Given the description of an element on the screen output the (x, y) to click on. 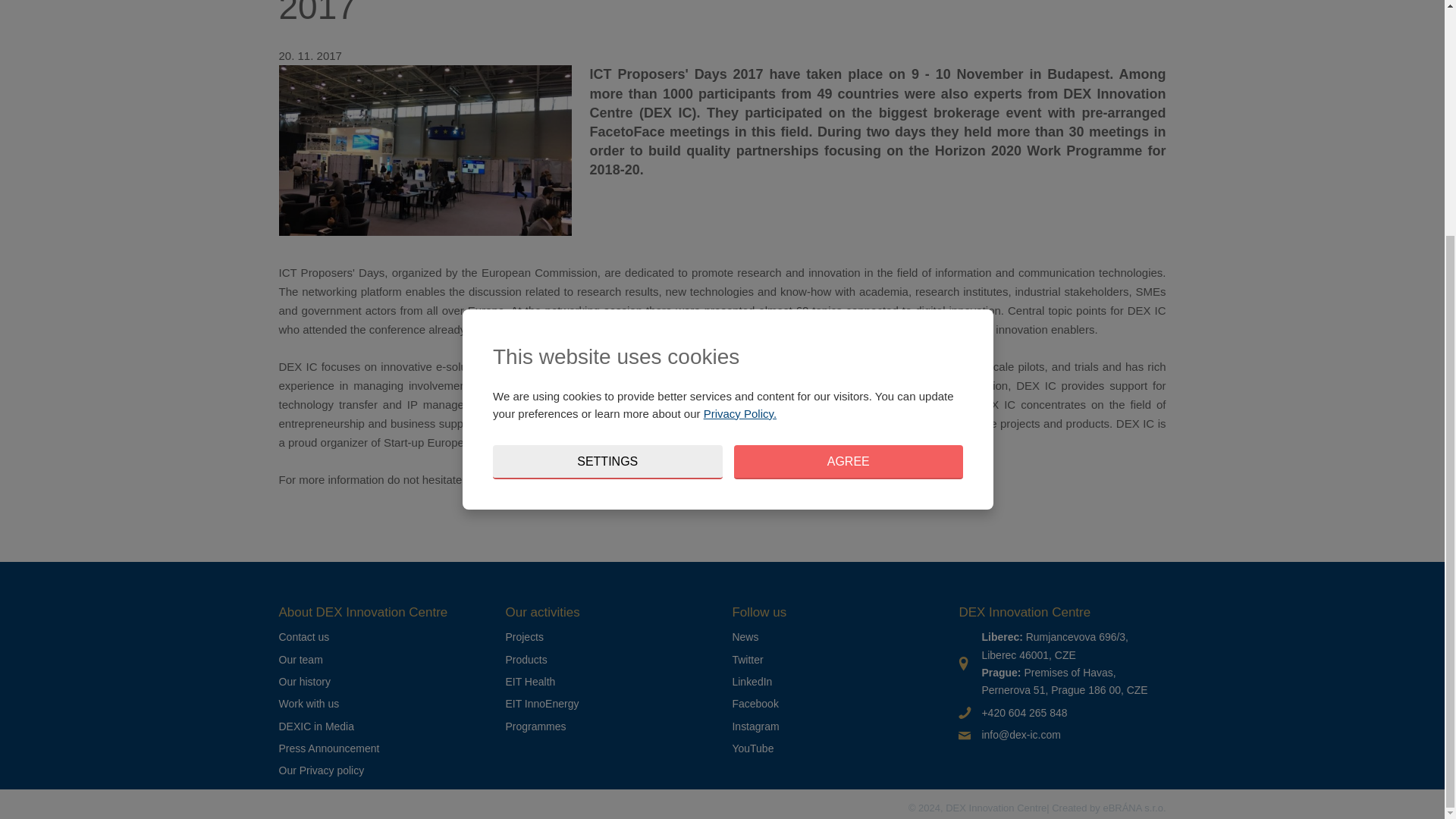
Press Announcement (329, 748)
Instagram (755, 726)
DEXIC in Media (316, 726)
YouTube (752, 748)
Contact us (304, 636)
SETTINGS (607, 140)
EIT InnoEnergy (541, 703)
Our Privacy policy (322, 770)
Projects (524, 636)
Twitter (747, 659)
News (745, 636)
Our team (301, 659)
Products (526, 659)
Facebook (754, 703)
Programmes (535, 726)
